Given the description of an element on the screen output the (x, y) to click on. 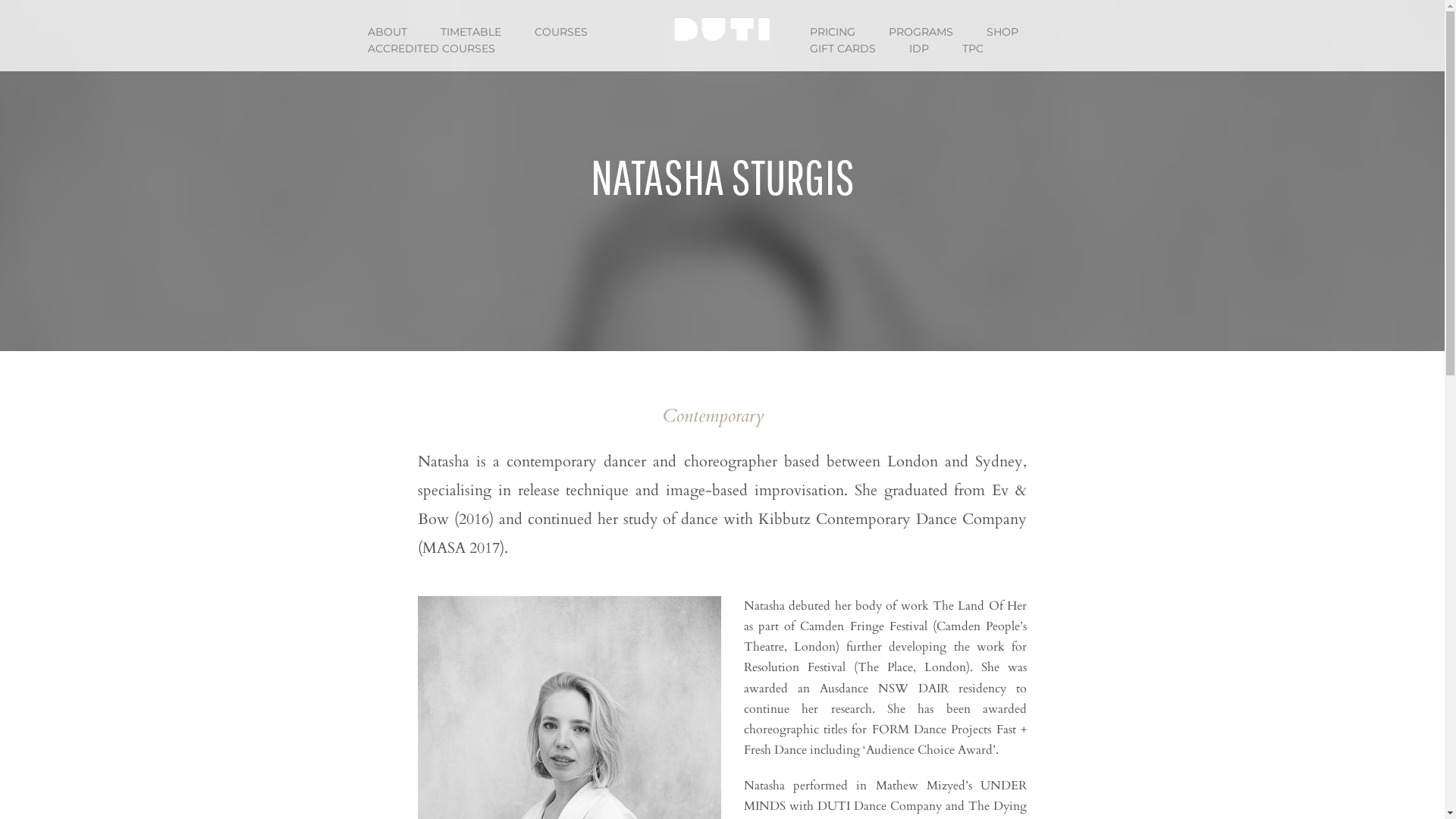
GIFT CARDS Element type: text (842, 48)
NATASHA STURGIS Element type: text (721, 175)
TIMETABLE Element type: text (470, 31)
ABOUT Element type: text (387, 31)
IDP Element type: text (918, 48)
ACCREDITED COURSES Element type: text (431, 48)
TPC Element type: text (972, 48)
COURSES Element type: text (560, 31)
PRICING Element type: text (832, 31)
PROGRAMS Element type: text (920, 31)
SHOP Element type: text (1002, 31)
